Given the description of an element on the screen output the (x, y) to click on. 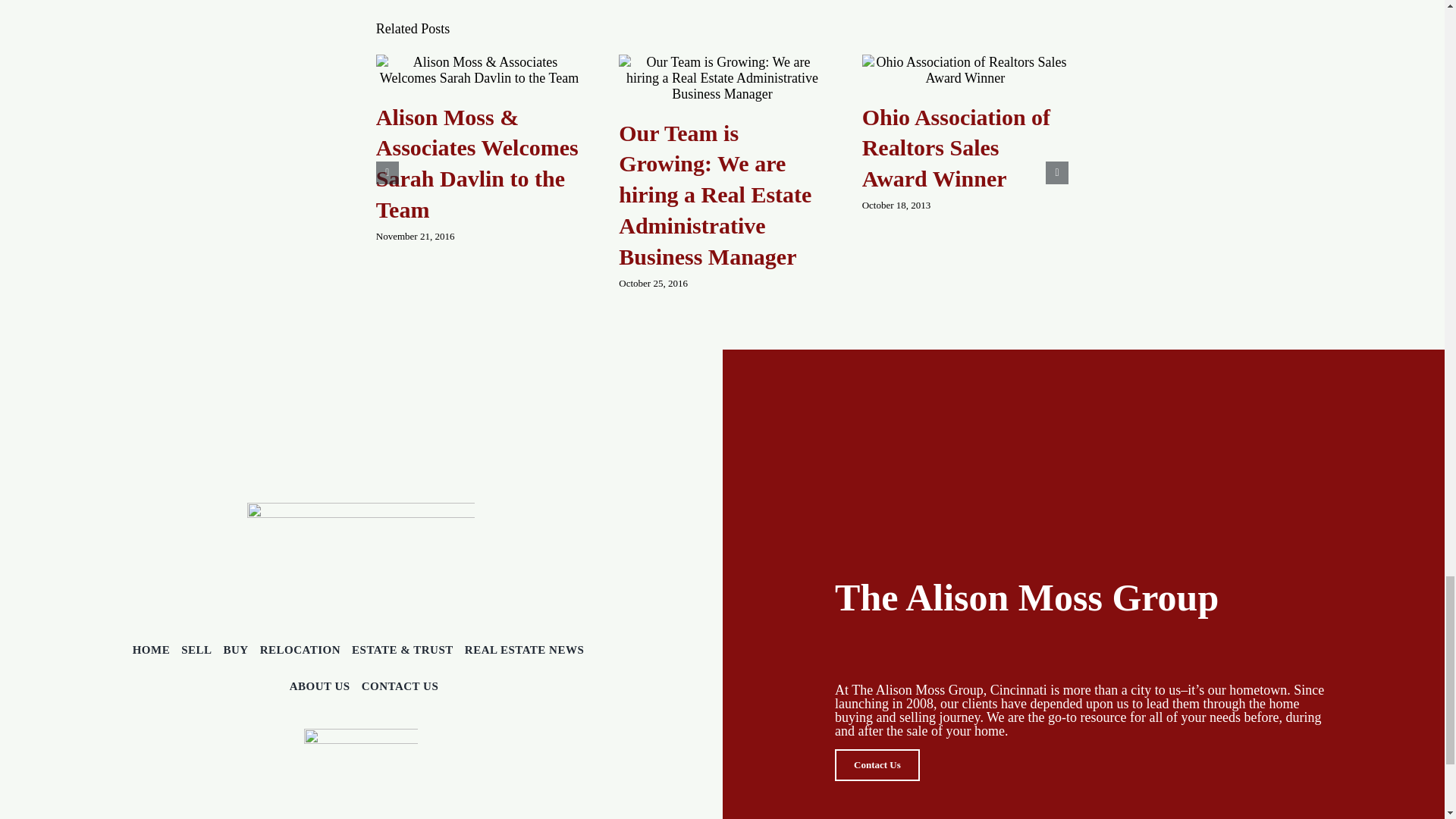
ABOUT US (319, 686)
HOME (151, 649)
RELOCATION (300, 649)
CONTACT US (400, 686)
Ohio Association of Realtors Sales Award Winner (955, 147)
REAL ESTATE NEWS (524, 649)
Ohio Association of Realtors Sales Award Winner (955, 147)
